Given the description of an element on the screen output the (x, y) to click on. 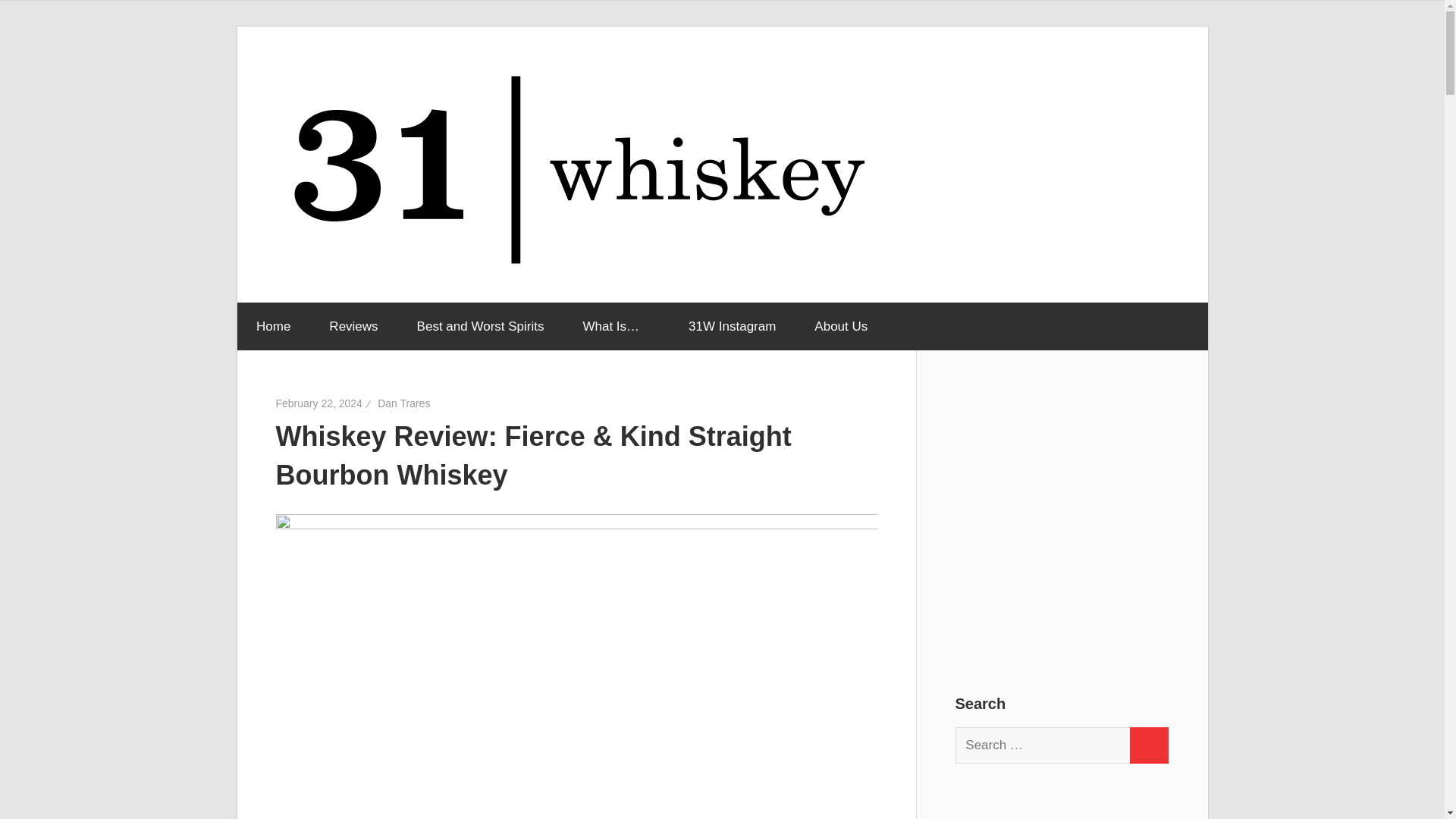
Home (271, 326)
7:00 am (319, 403)
Best and Worst Spirits (480, 326)
Dan Trares (403, 403)
31W Instagram (731, 326)
Reviews (353, 326)
February 22, 2024 (319, 403)
Search for: (1043, 745)
About Us (840, 326)
